Given the description of an element on the screen output the (x, y) to click on. 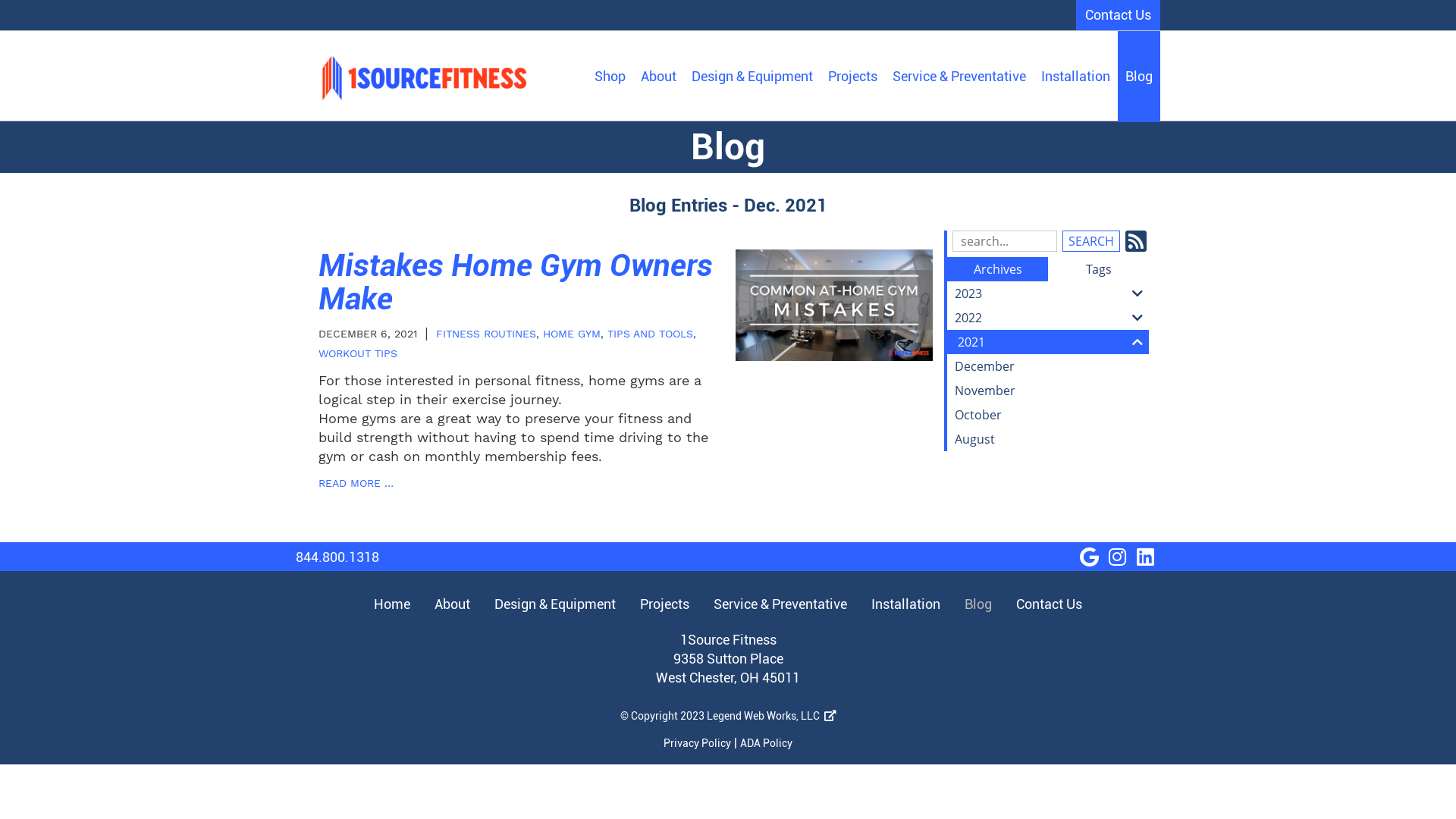
Contact Us Element type: text (1118, 15)
Search Element type: text (1090, 240)
Projects Element type: text (852, 76)
August Element type: text (1047, 438)
Installation Element type: text (1075, 76)
2021 Element type: text (1047, 341)
Projects Element type: text (664, 603)
Installation Element type: text (905, 603)
Service & Preventative Element type: text (780, 603)
October Element type: text (1047, 414)
TIPS AND TOOLS Element type: text (650, 333)
Tags Element type: text (1098, 269)
Contact Us Element type: text (1046, 603)
2022 Element type: text (1047, 317)
November Element type: text (1047, 390)
Shop Element type: text (609, 76)
Mistakes Home Gym Owners Make Element type: text (515, 282)
visit our Google Business page Element type: text (1088, 556)
Home Element type: text (394, 603)
Archives Element type: text (997, 269)
844.800.1318 Element type: text (337, 556)
About Element type: text (452, 603)
Service & Preventative Element type: text (958, 76)
WORKOUT TIPS Element type: text (357, 353)
Blog Element type: text (977, 603)
Legend Web Works, LLC  Element type: text (771, 715)
2023 Element type: text (1047, 293)
HOME GYM Element type: text (571, 333)
Blog Element type: text (1138, 76)
December Element type: text (1047, 366)
FITNESS ROUTINES Element type: text (486, 333)
visit our Instagram page Element type: text (1116, 556)
Subscribe to our Feed Element type: text (1135, 241)
visit our LinkedIn page Element type: text (1144, 556)
ADA Policy Element type: text (766, 743)
Design & Equipment Element type: text (752, 76)
Privacy Policy Element type: text (697, 743)
About Element type: text (658, 76)
Design & Equipment Element type: text (554, 603)
